Given the description of an element on the screen output the (x, y) to click on. 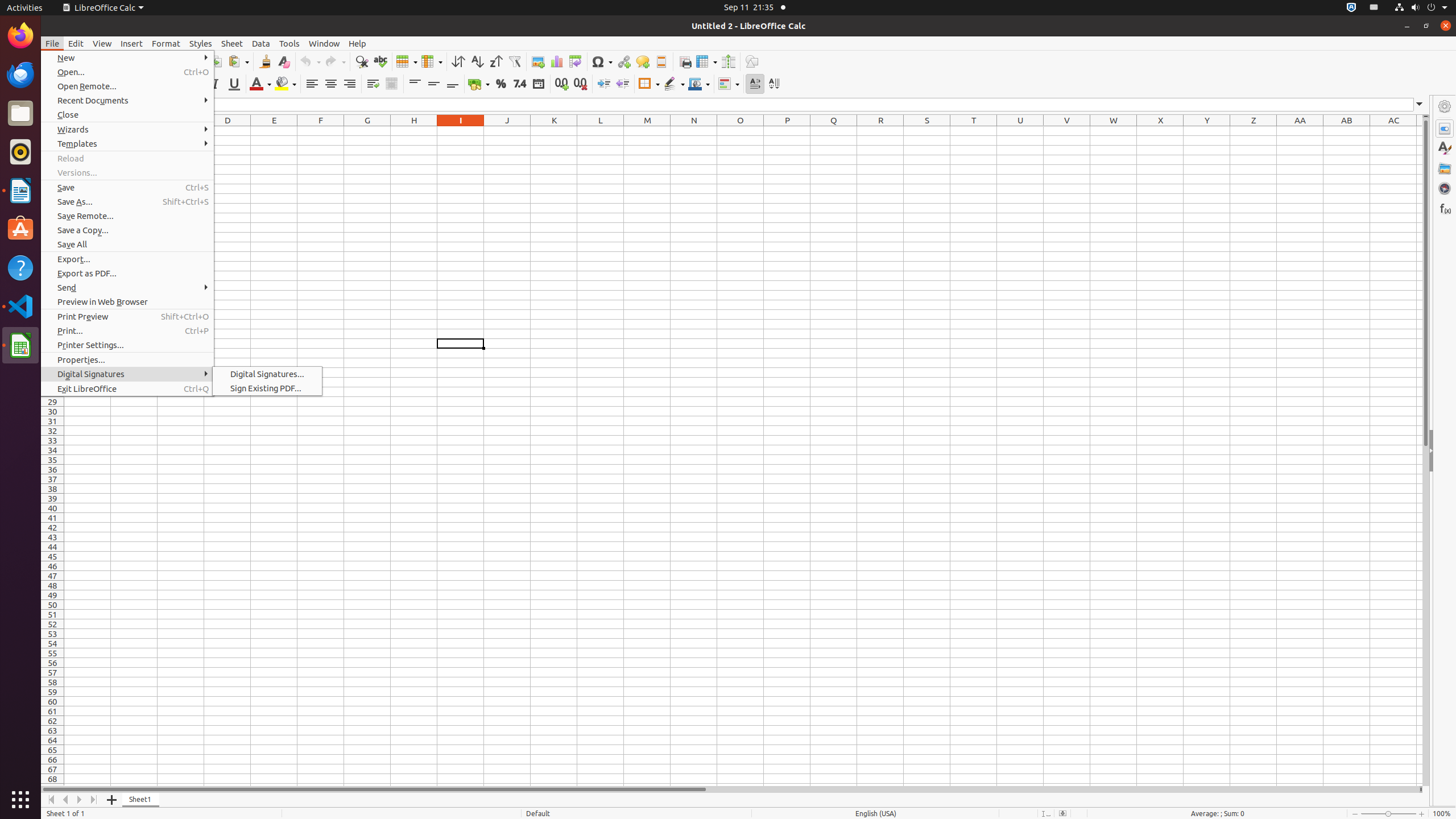
Borders (Shift to overwrite) Element type: push-button (648, 83)
Open Remote... Element type: menu-item (126, 86)
Window Element type: menu (324, 43)
Delete Decimal Place Element type: push-button (580, 83)
Properties Element type: radio-button (1444, 128)
